Given the description of an element on the screen output the (x, y) to click on. 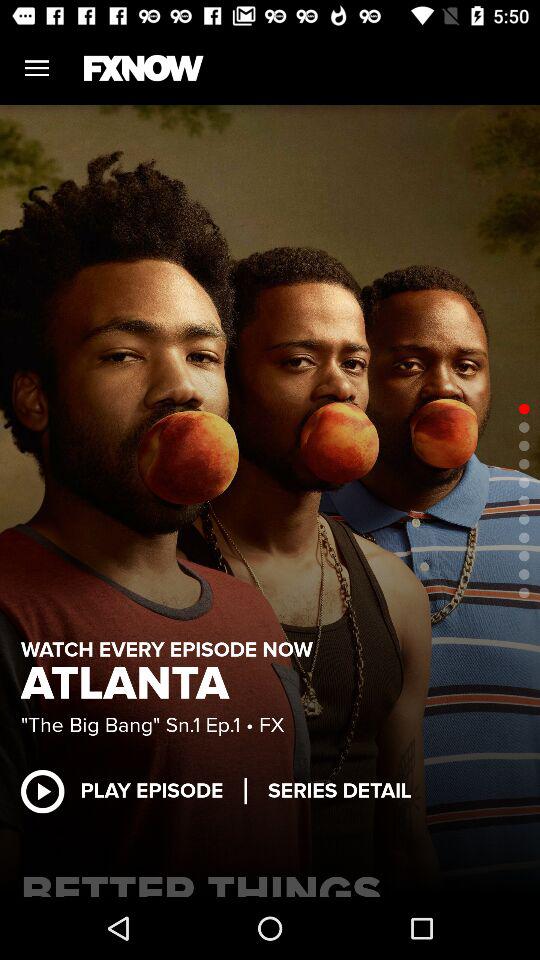
choose the play episode icon (132, 790)
